Given the description of an element on the screen output the (x, y) to click on. 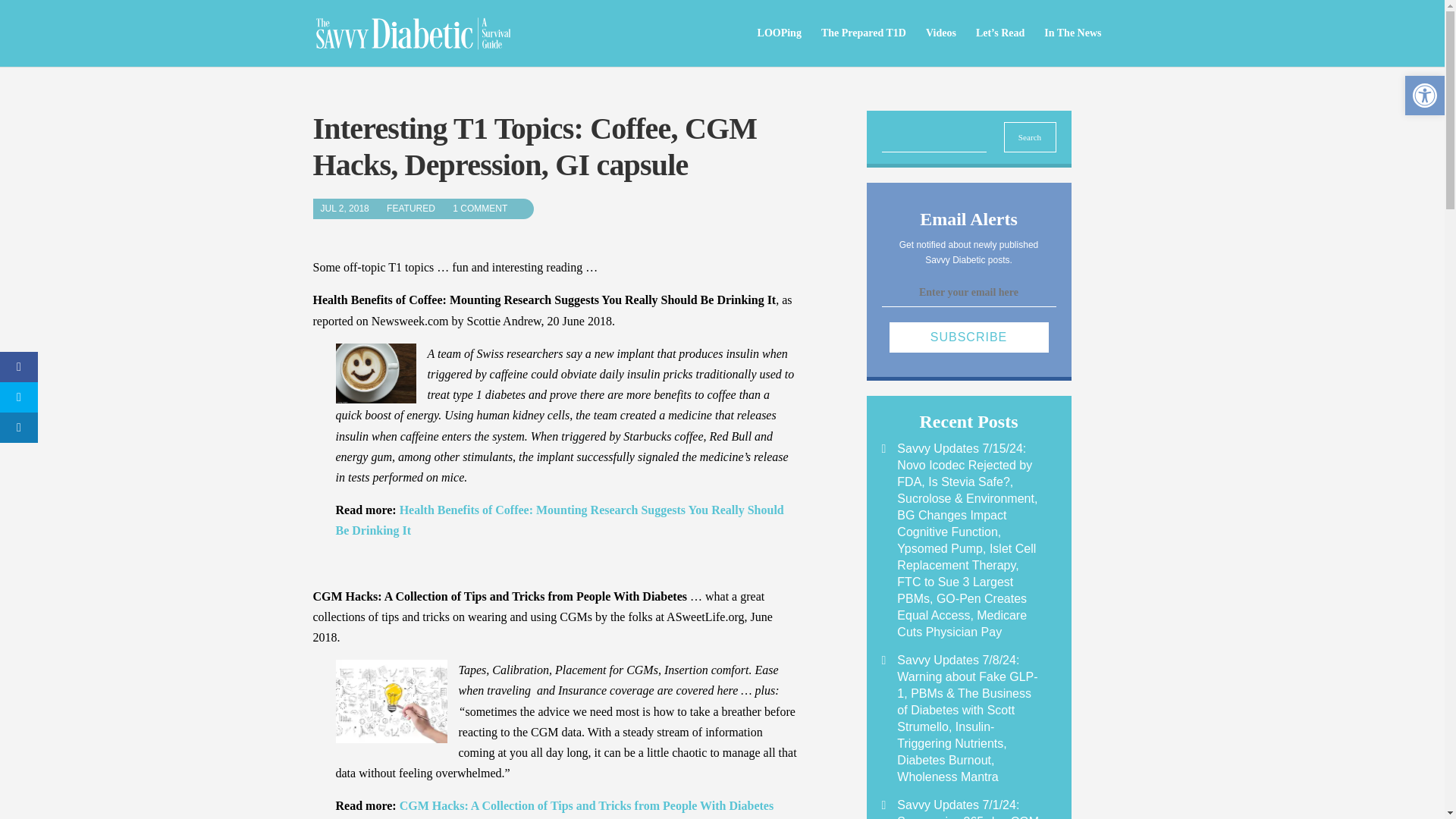
Accessibility Tools (1424, 95)
FEATURED (418, 208)
1 COMMENT (487, 208)
Search (1030, 137)
LOOPing (779, 46)
The Prepared T1D (863, 46)
In The News (1071, 46)
